Given the description of an element on the screen output the (x, y) to click on. 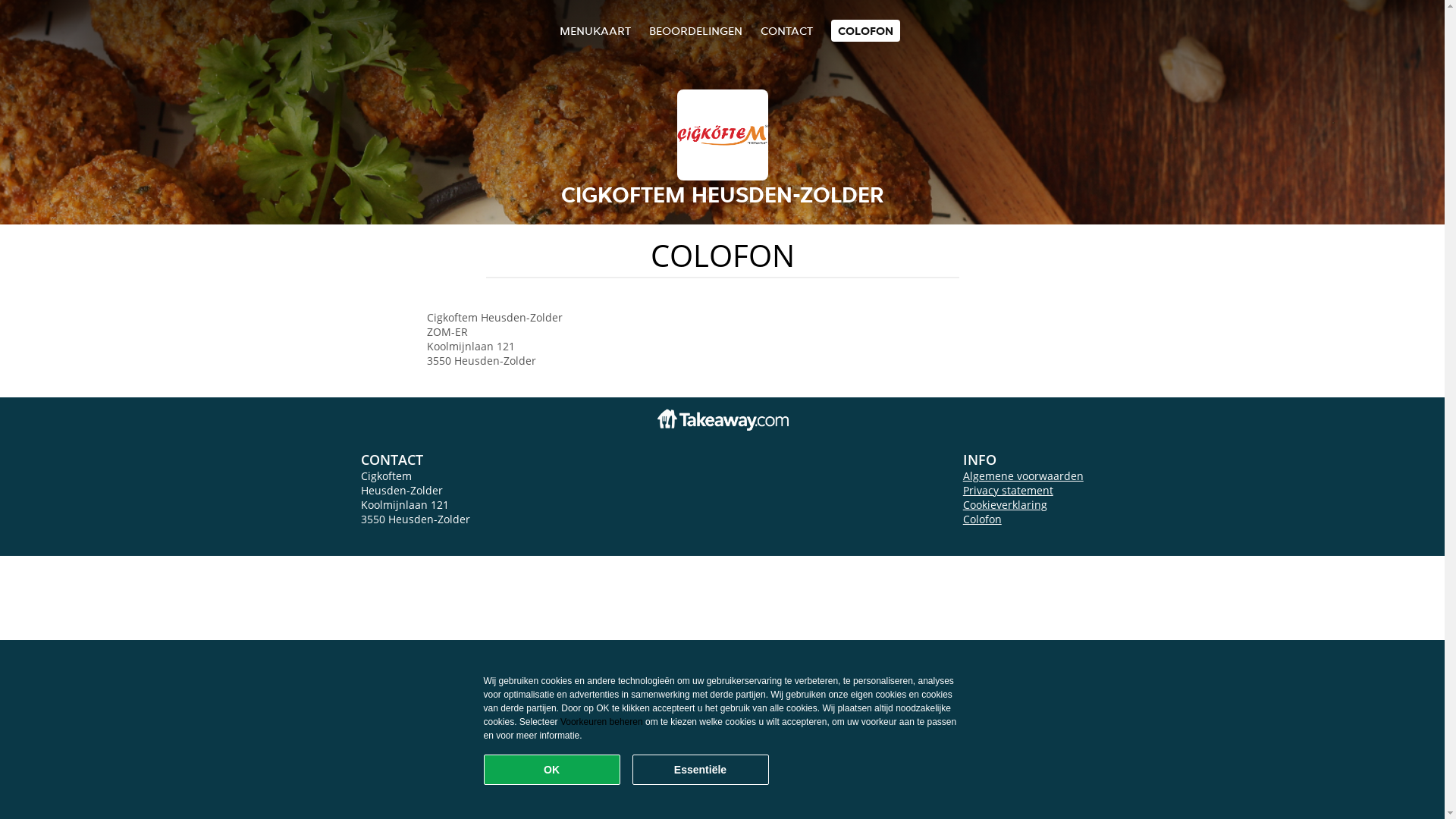
Colofon Element type: text (982, 518)
MENUKAART Element type: text (594, 30)
CONTACT Element type: text (786, 30)
OK Element type: text (551, 769)
Voorkeuren beheren Element type: text (601, 721)
Privacy statement Element type: text (1008, 490)
Cookieverklaring Element type: text (1005, 504)
BEOORDELINGEN Element type: text (695, 30)
Algemene voorwaarden Element type: text (1023, 475)
COLOFON Element type: text (865, 30)
